Given the description of an element on the screen output the (x, y) to click on. 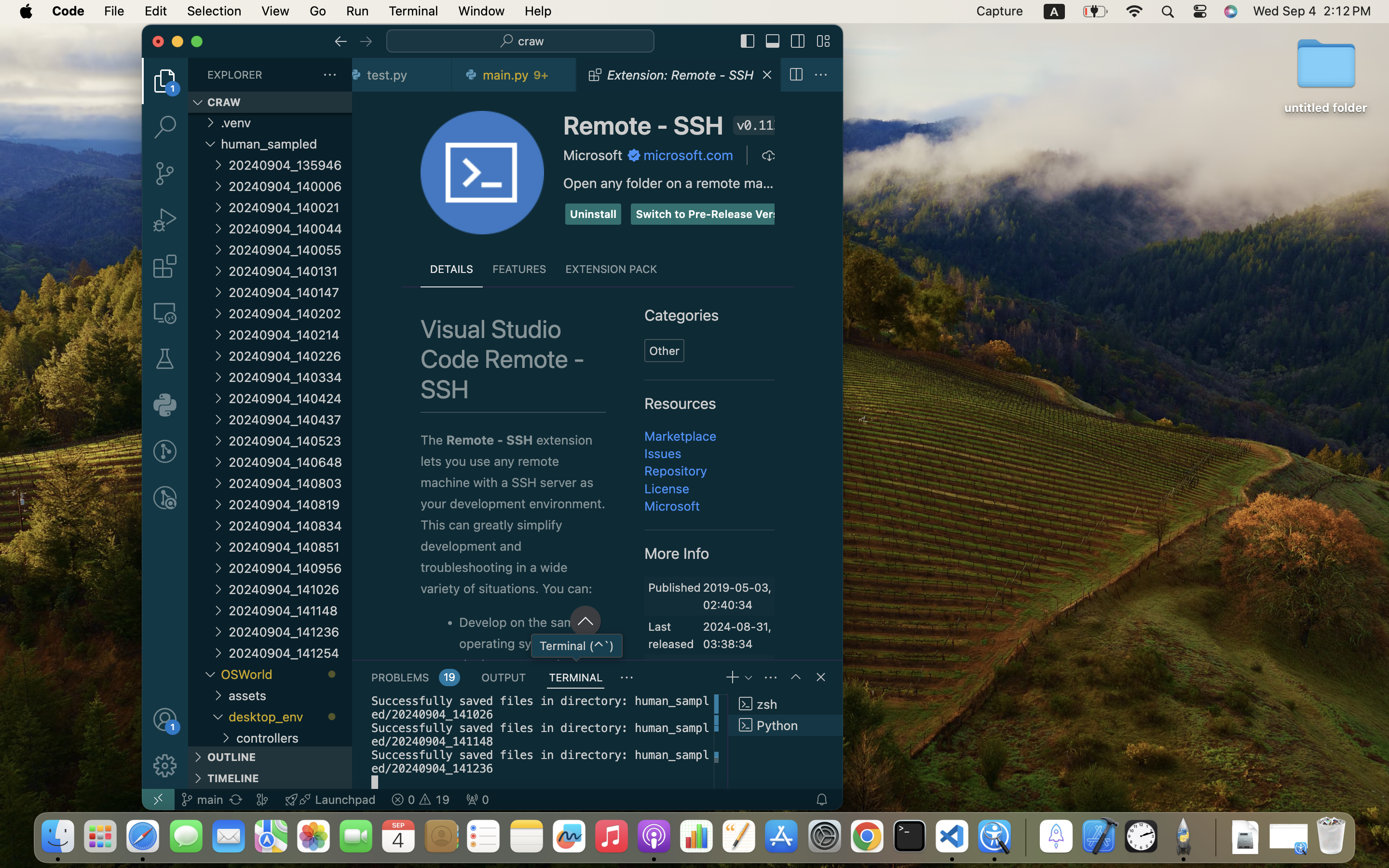
20240904_140424 Element type: AXGroup (290, 397)
20240904_135946 Element type: AXGroup (290, 164)
0  Element type: AXRadioButton (164, 127)
 Element type: AXCheckBox (798, 41)
20240904_140131 Element type: AXGroup (290, 270)
